Given the description of an element on the screen output the (x, y) to click on. 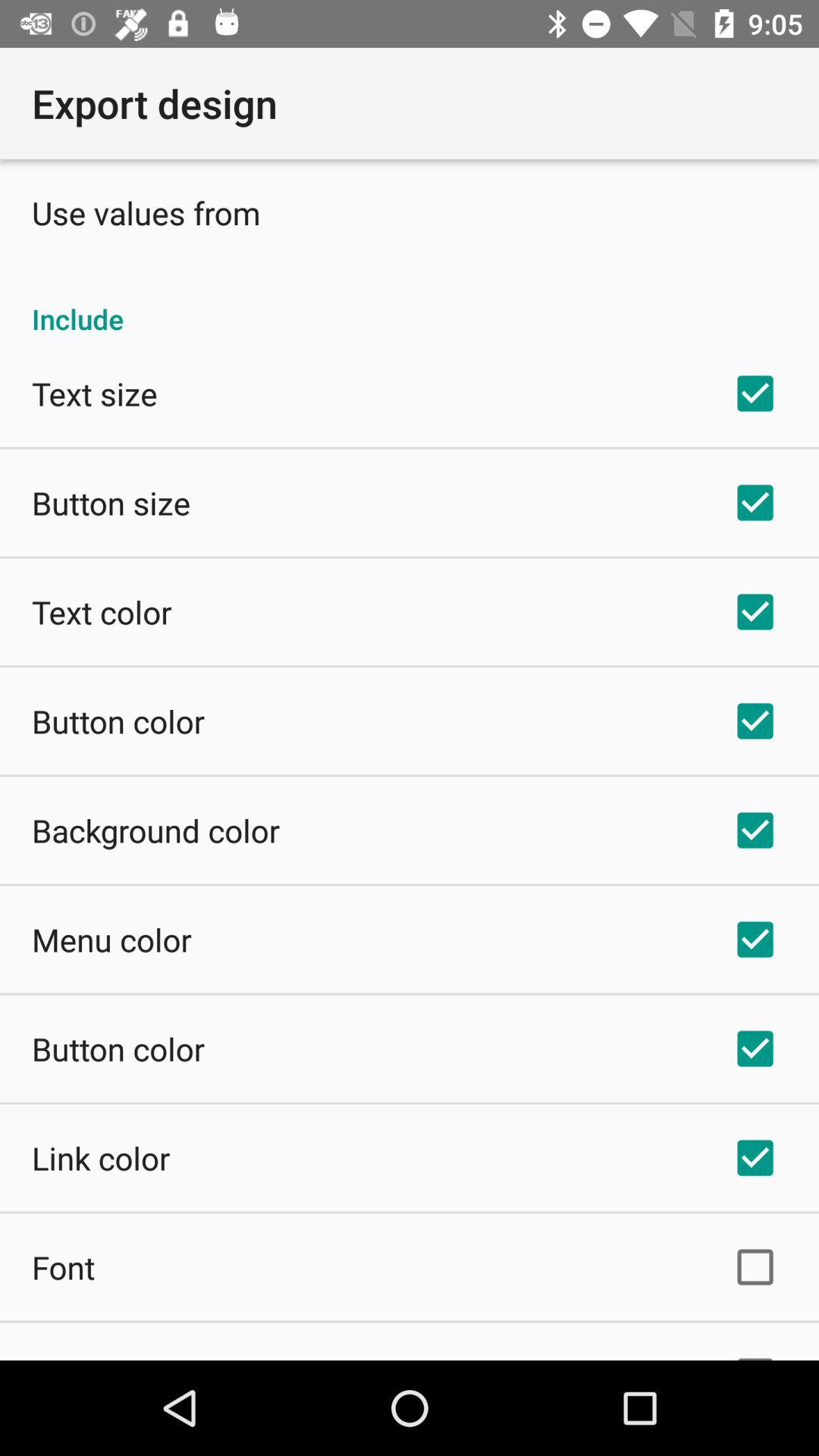
click app above the include app (145, 212)
